Given the description of an element on the screen output the (x, y) to click on. 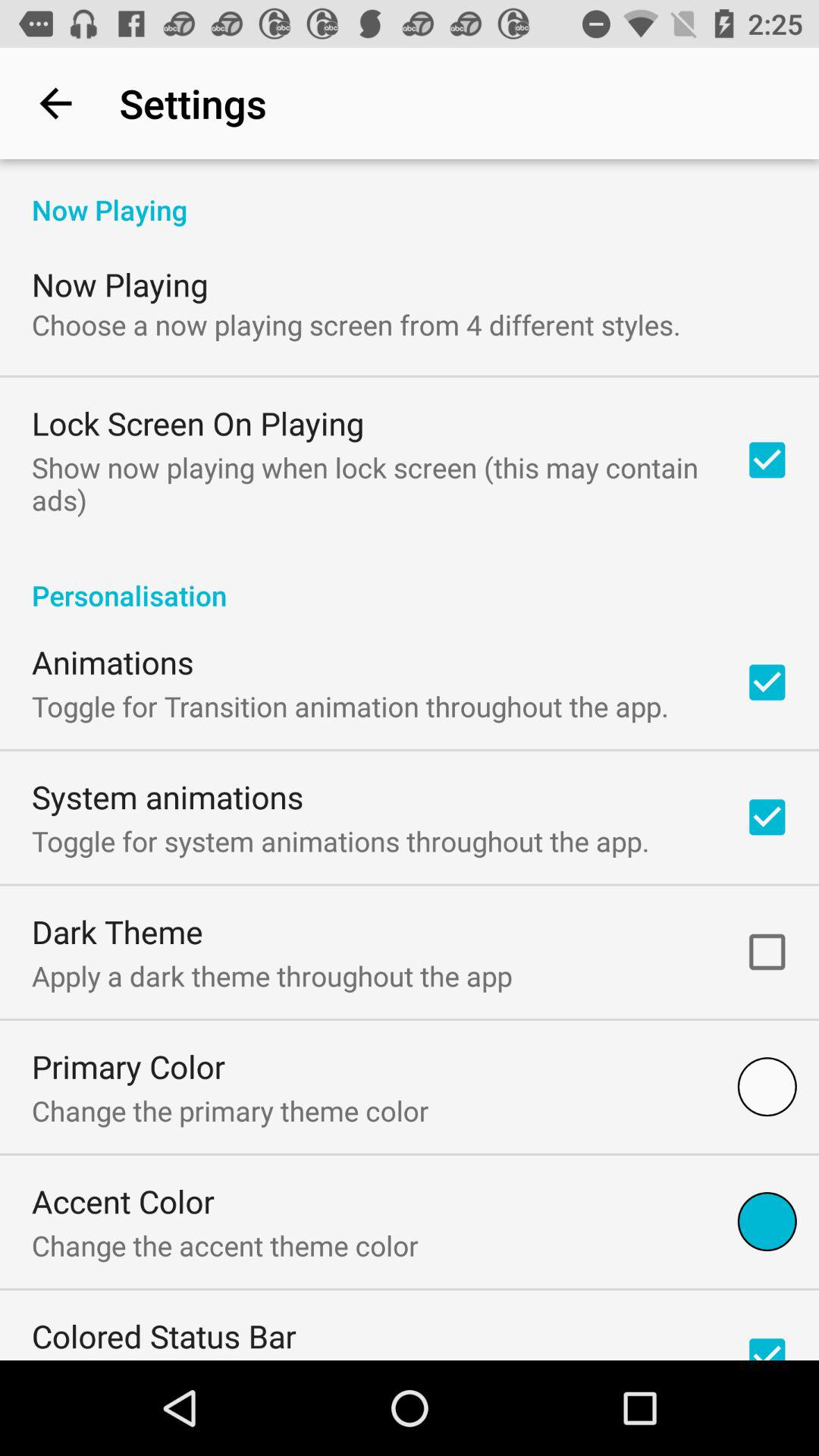
press colored status bar (163, 1335)
